Given the description of an element on the screen output the (x, y) to click on. 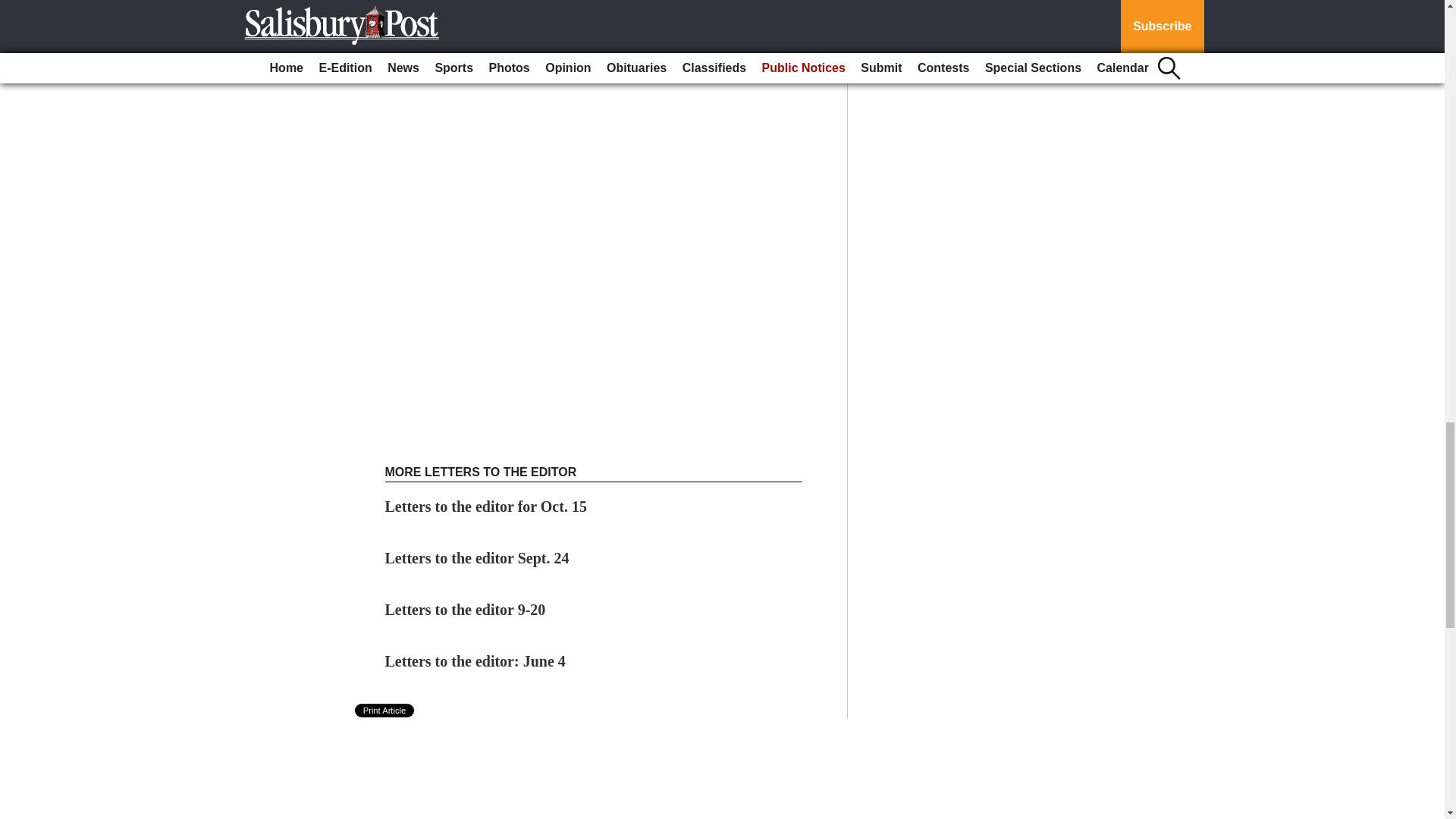
Letters to the editor for Oct. 15 (485, 506)
Letters to the editor Sept. 24 (477, 557)
Letters to the editor 9-20 (465, 609)
Letters to the editor: June 4 (475, 660)
